Given the description of an element on the screen output the (x, y) to click on. 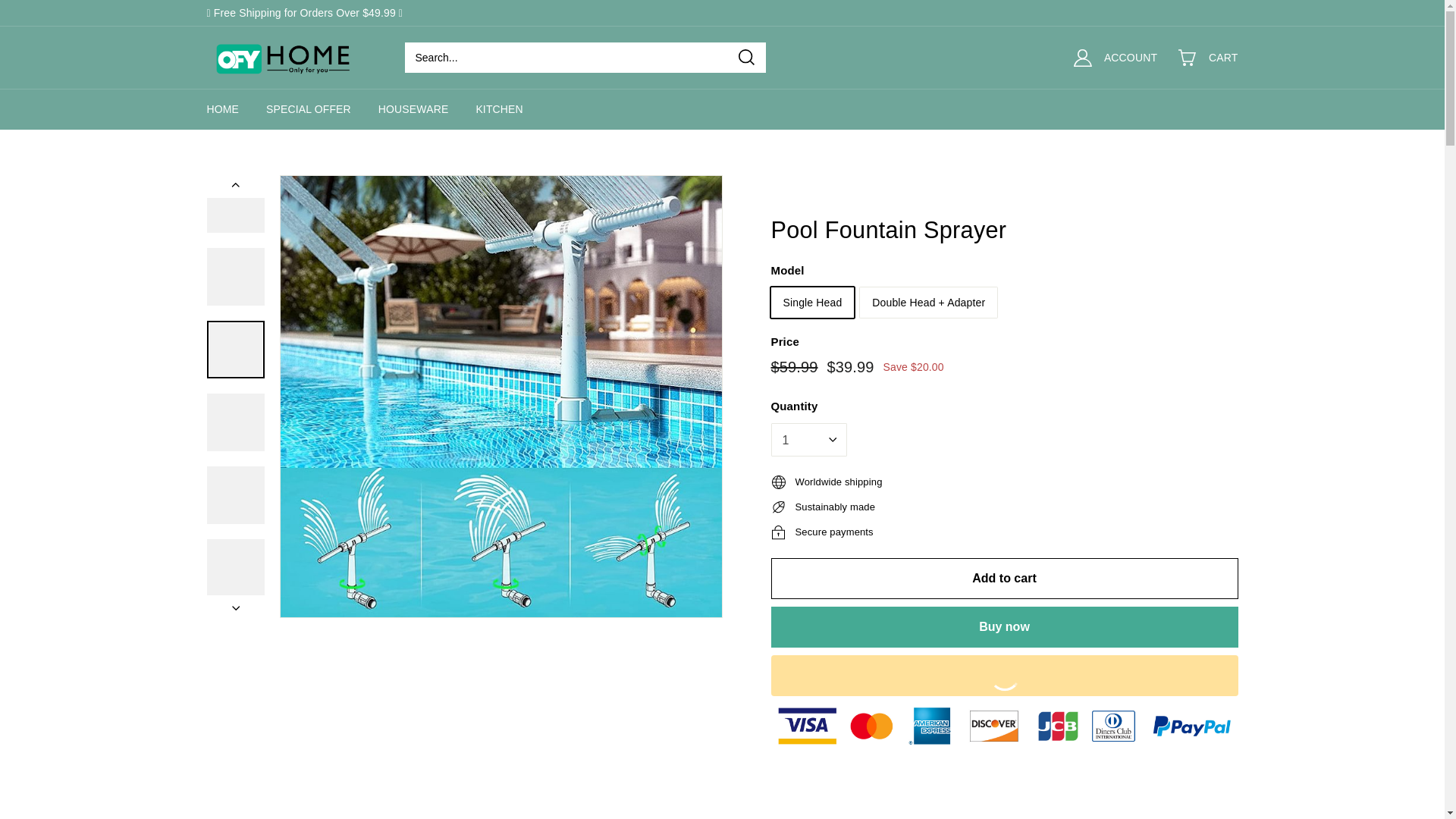
KITCHEN (499, 108)
SPECIAL OFFER (308, 108)
CART (1216, 57)
HOUSEWARE (413, 108)
